Given the description of an element on the screen output the (x, y) to click on. 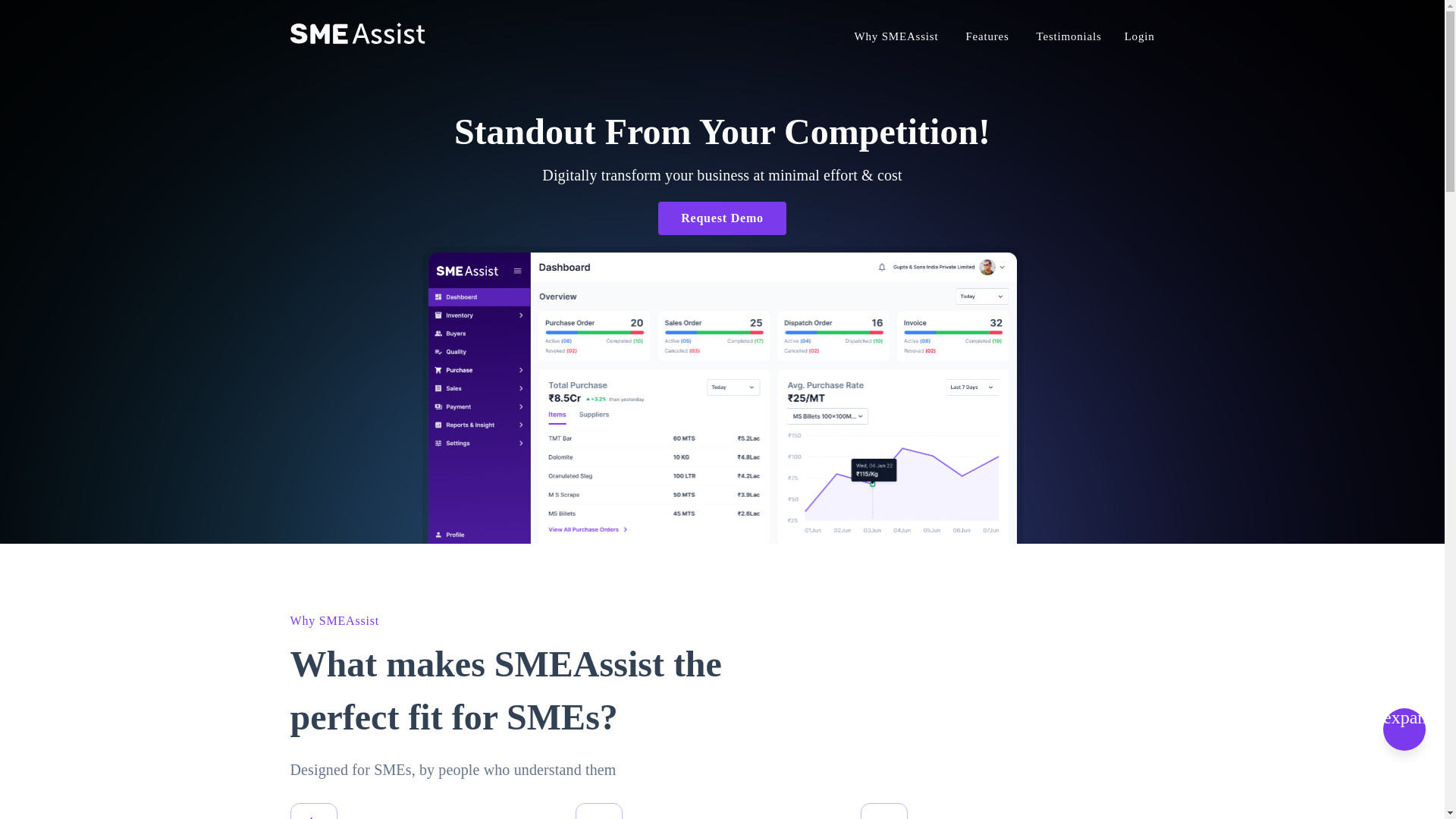
Testimonials (1069, 36)
Request Demo (722, 218)
Login (1139, 36)
Features (986, 35)
Why SMEAssist (333, 620)
Why SMEAssist (896, 36)
